Given the description of an element on the screen output the (x, y) to click on. 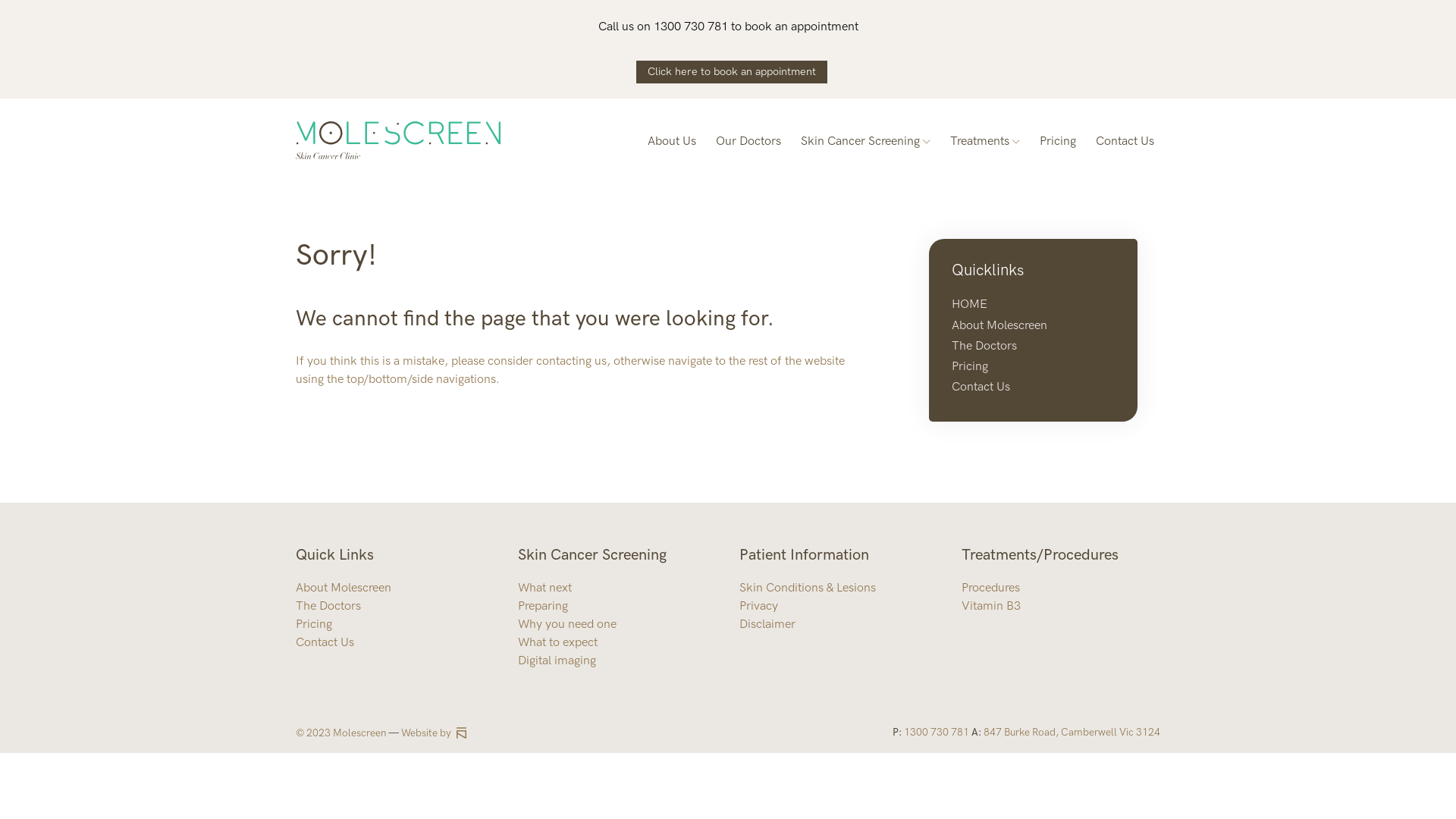
Treatments Element type: text (985, 140)
Contact Us Element type: text (1124, 140)
Click here to book an appointment Element type: text (731, 71)
HOME Element type: text (969, 304)
About Molescreen Element type: text (999, 325)
Disclaimer Element type: text (767, 624)
Pricing Element type: text (1057, 140)
Vitamin B3 Element type: text (990, 606)
Why you need one Element type: text (566, 624)
Digital imaging Element type: text (556, 660)
Contact Us Element type: text (324, 642)
Contact Us Element type: text (980, 386)
The Doctors Element type: text (327, 606)
Our Doctors Element type: text (748, 140)
What next Element type: text (544, 587)
Preparing Element type: text (542, 606)
About Us Element type: text (671, 140)
What to expect Element type: text (556, 642)
The Doctors Element type: text (983, 345)
Skin Cancer Screening Element type: text (865, 140)
Procedures Element type: text (990, 587)
Privacy Element type: text (758, 606)
Pricing Element type: text (969, 366)
About Molescreen Element type: text (343, 587)
Skin Conditions & Lesions Element type: text (807, 587)
contacting us Element type: text (571, 361)
Pricing Element type: text (313, 624)
